Given the description of an element on the screen output the (x, y) to click on. 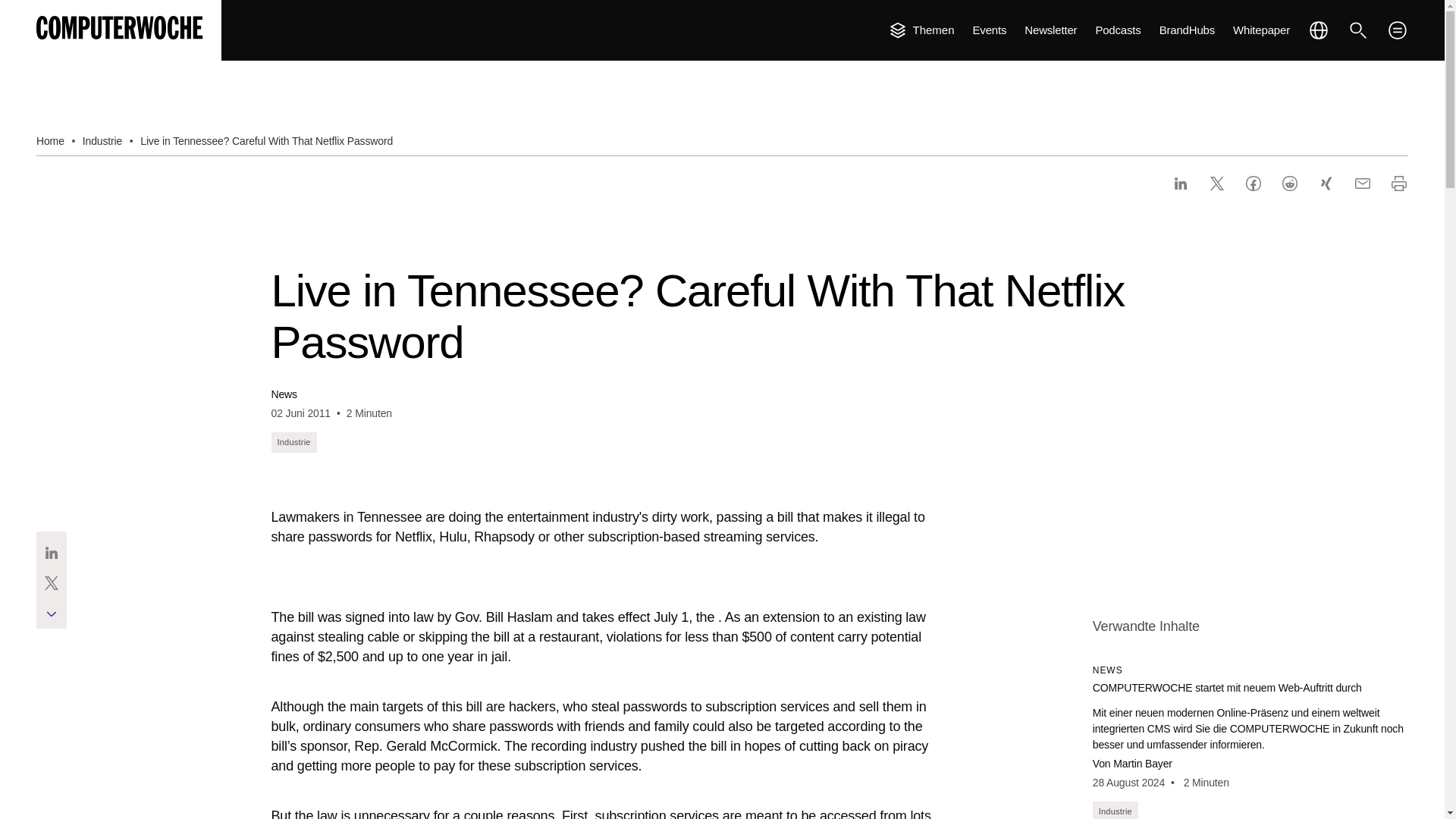
BrandHubs (1186, 30)
Themen (920, 29)
Podcasts (1117, 30)
Whitepaper (1261, 30)
Newsletter (1051, 30)
Events (989, 30)
